Given the description of an element on the screen output the (x, y) to click on. 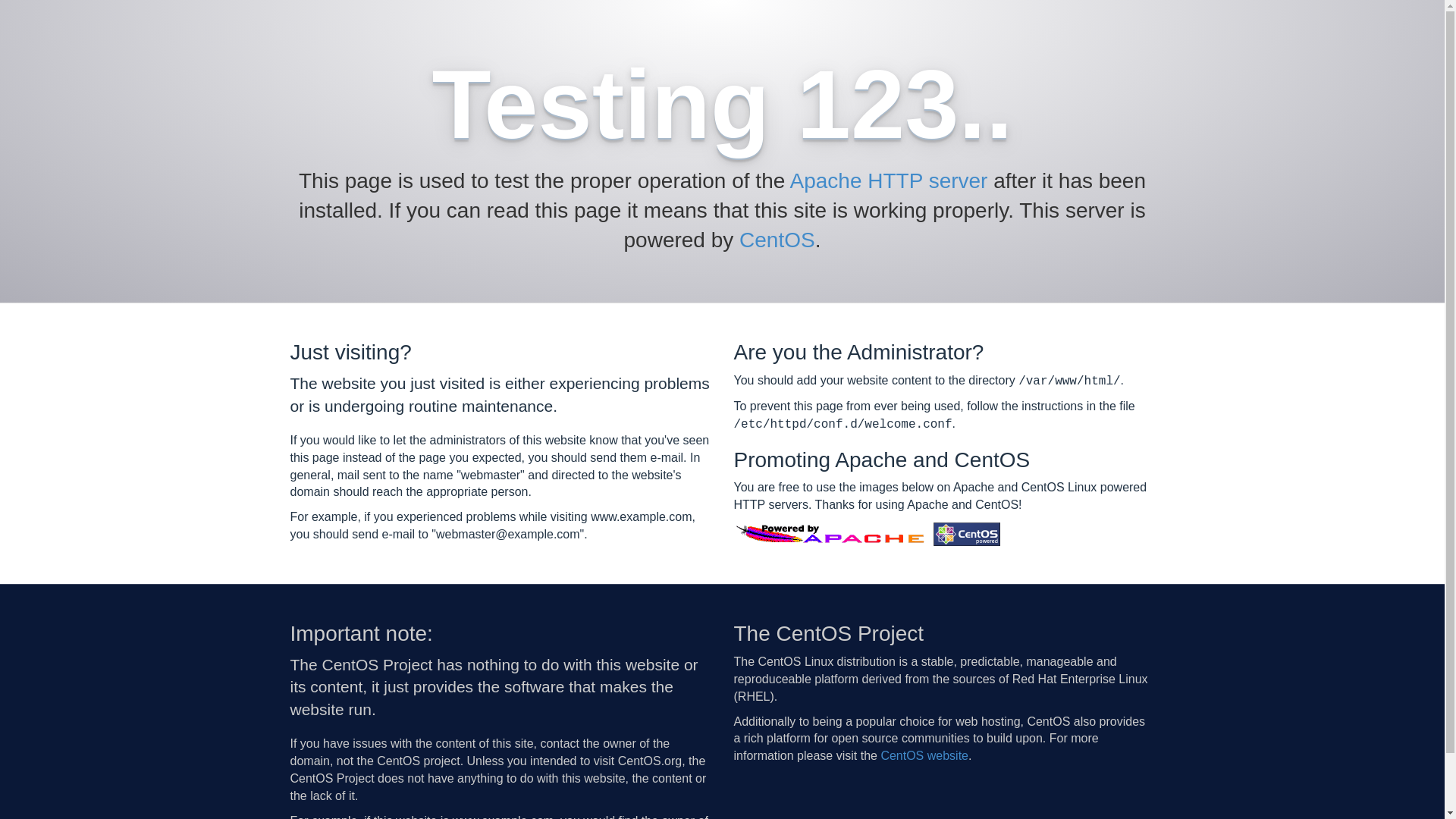
CentOS website Element type: text (924, 755)
Apache HTTP server Element type: text (889, 180)
CentOS Element type: text (777, 239)
